Given the description of an element on the screen output the (x, y) to click on. 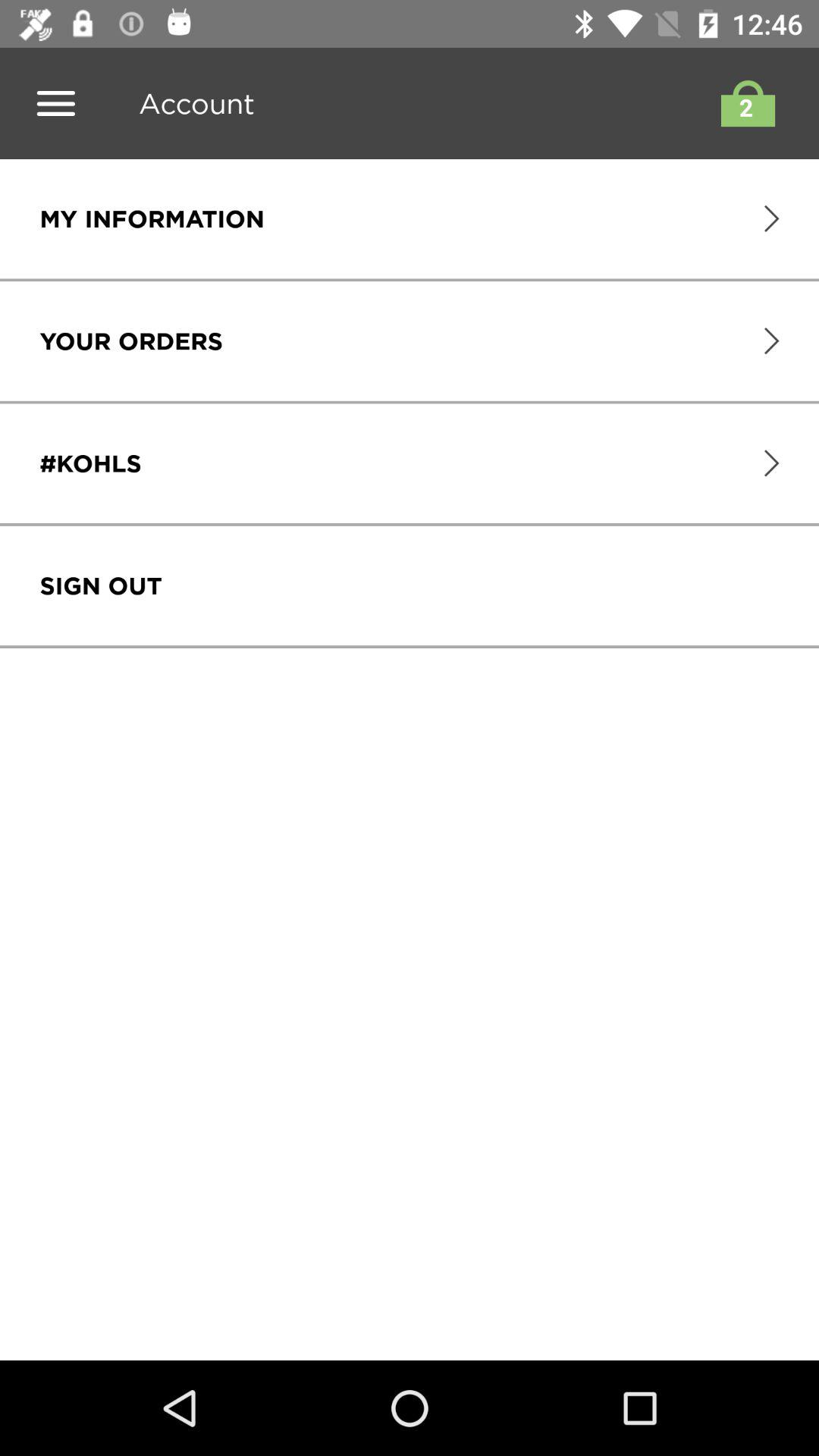
menu bar button (55, 103)
